Given the description of an element on the screen output the (x, y) to click on. 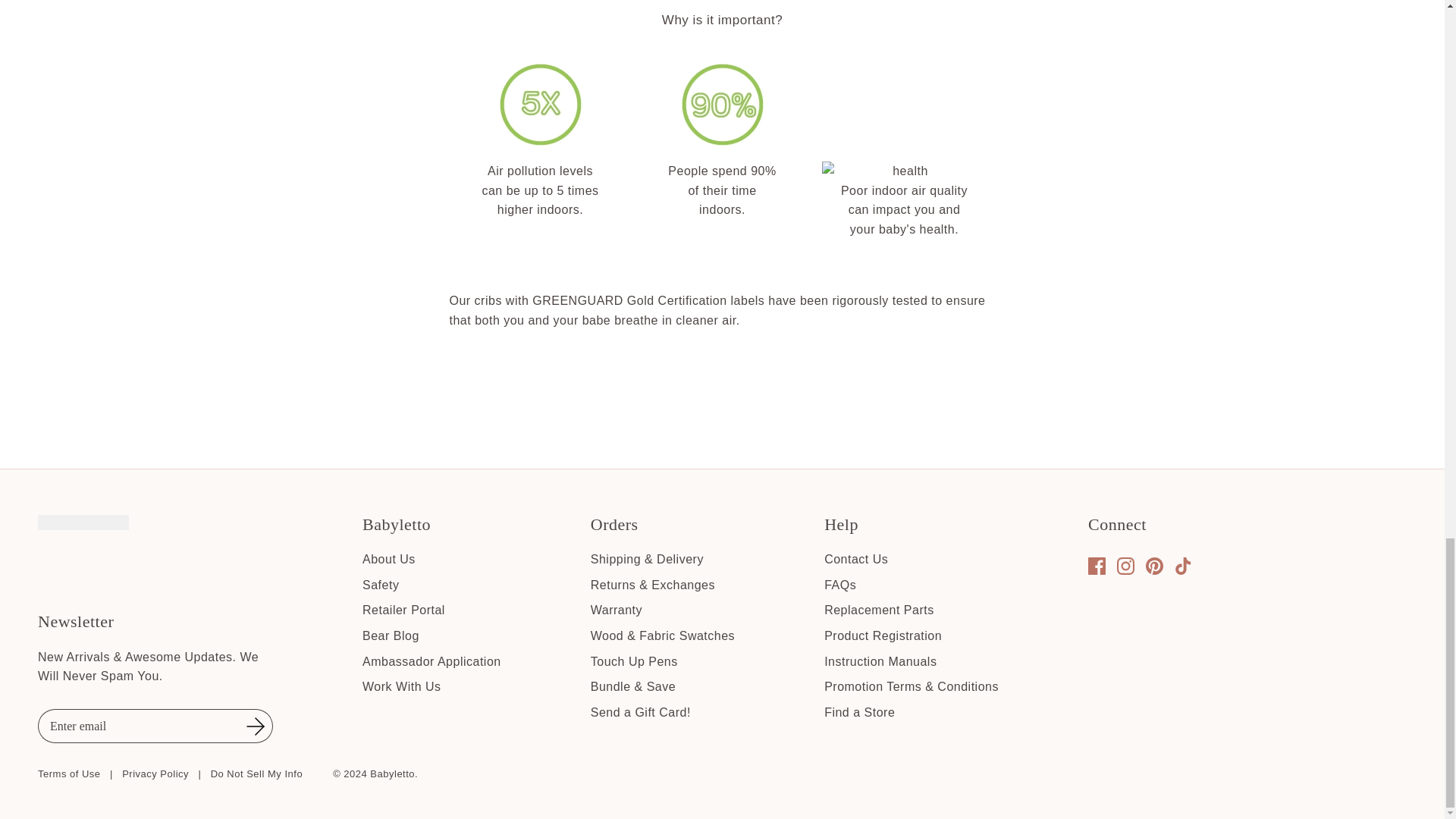
Facebook (1096, 565)
Instagram (1125, 565)
Pinterest (1154, 565)
